Given the description of an element on the screen output the (x, y) to click on. 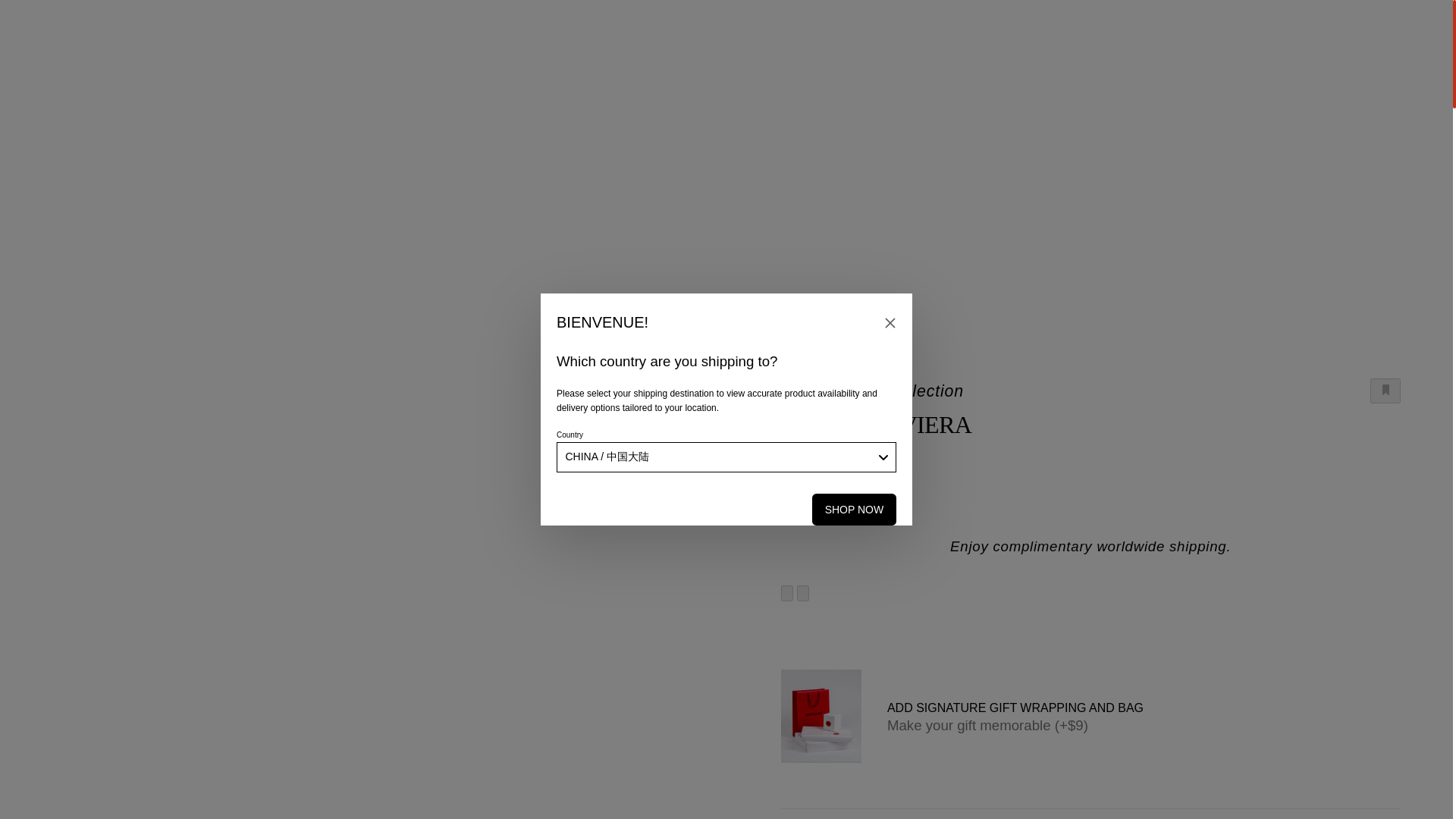
SHOP NOW (854, 509)
